Given the description of an element on the screen output the (x, y) to click on. 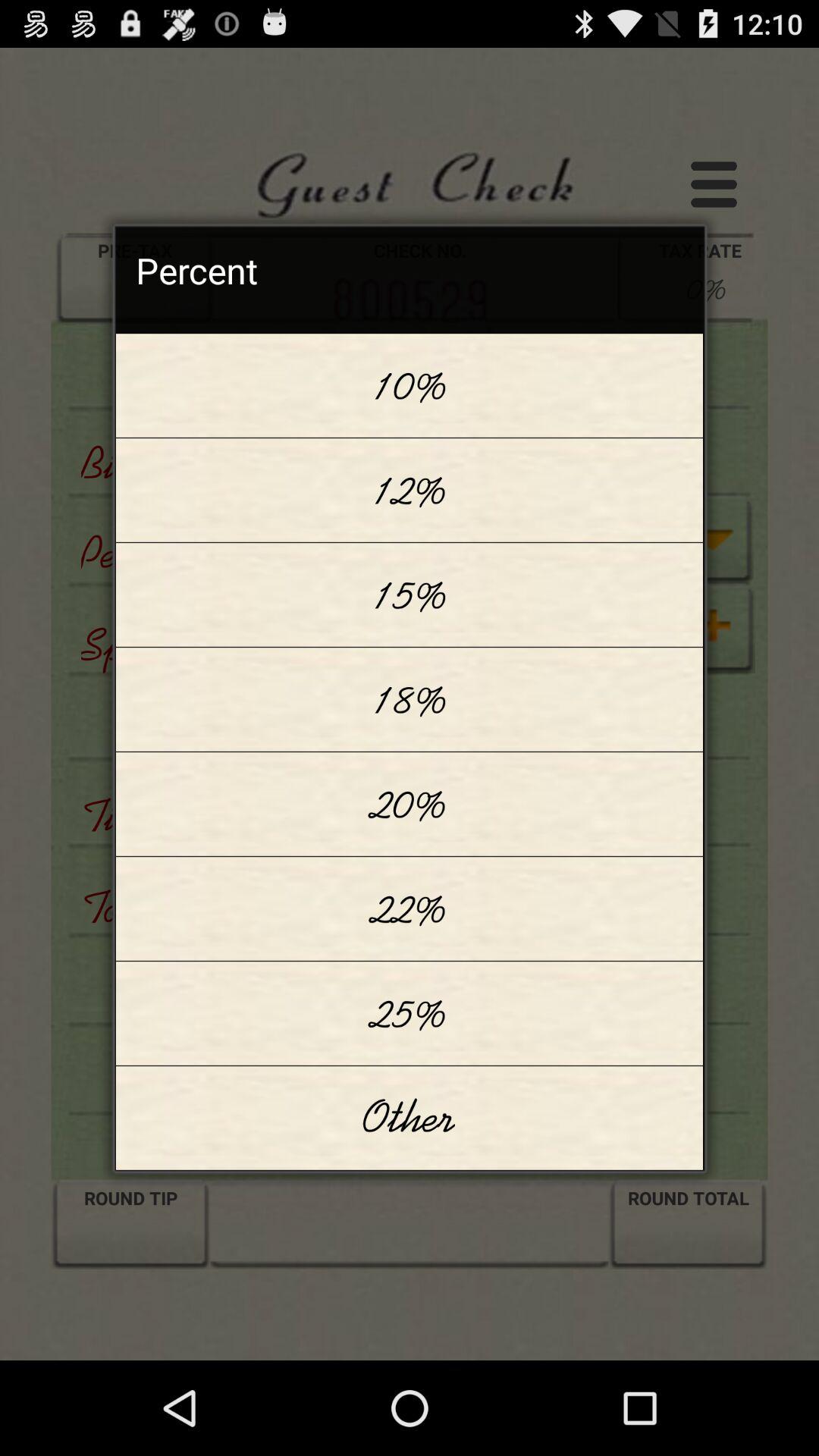
swipe until 22% app (409, 908)
